Given the description of an element on the screen output the (x, y) to click on. 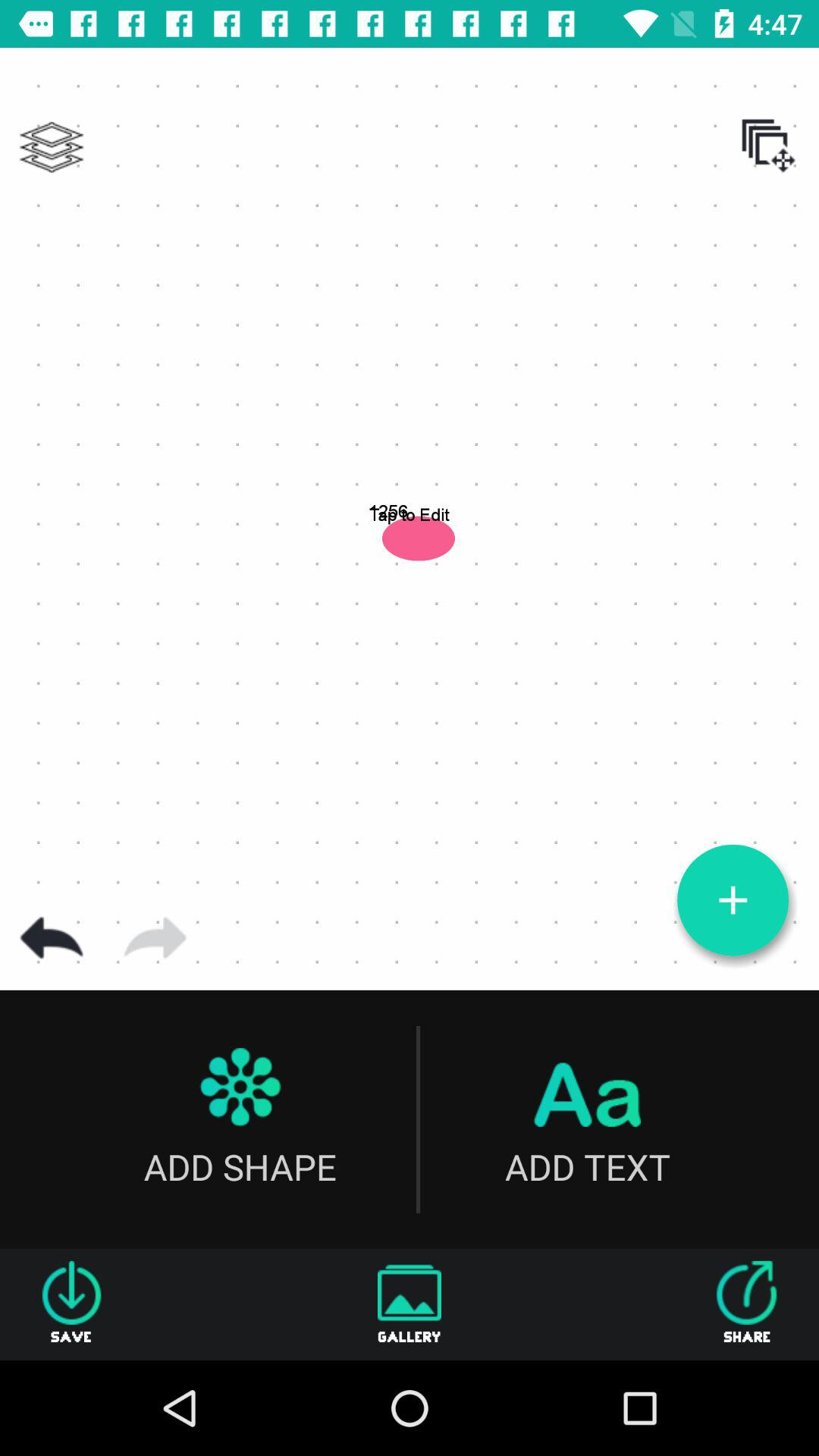
re-doo action/line (155, 938)
